Given the description of an element on the screen output the (x, y) to click on. 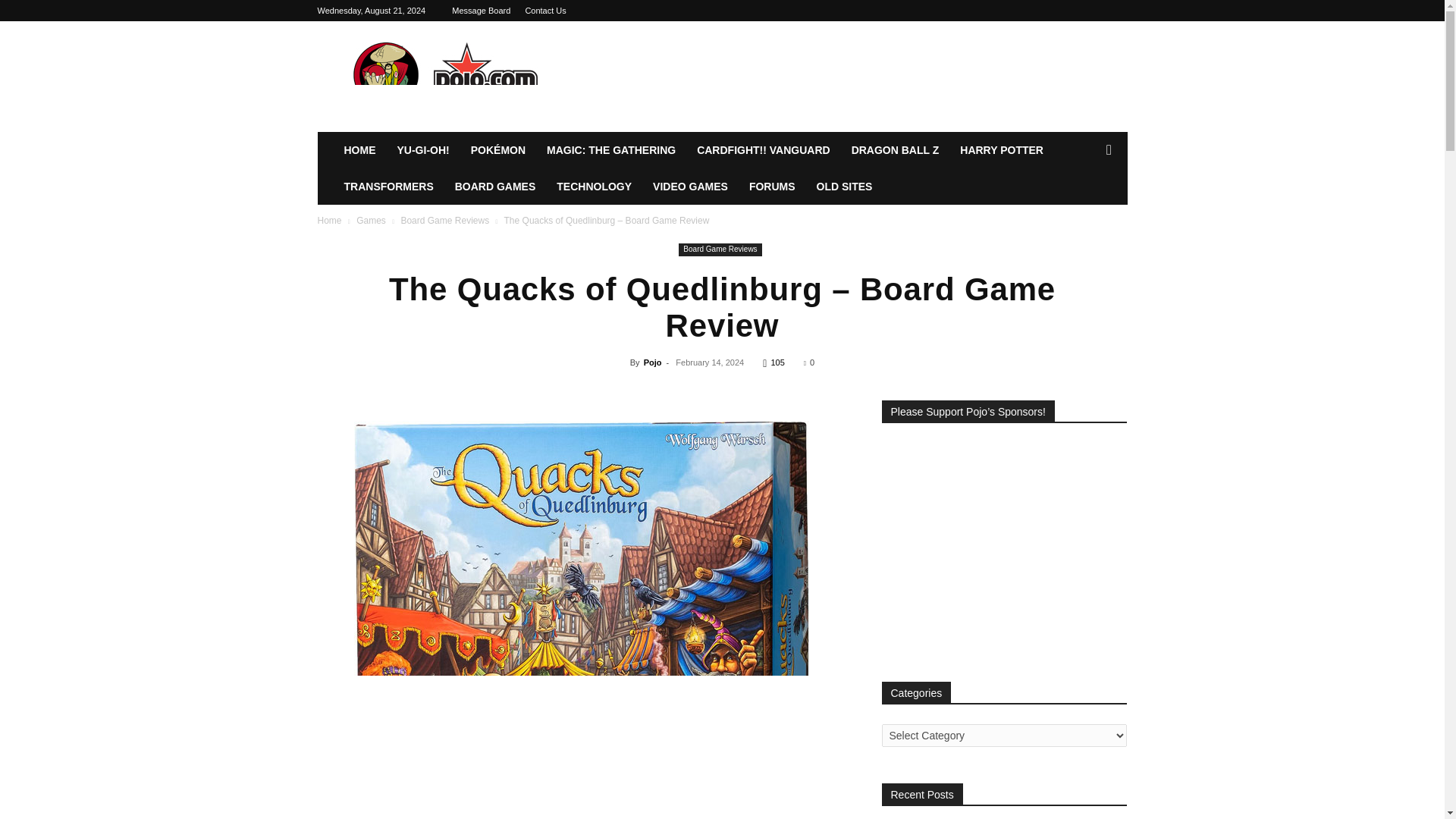
View all posts in Board Game Reviews (444, 220)
View all posts in Games (370, 220)
Pojo.com (445, 76)
